Given the description of an element on the screen output the (x, y) to click on. 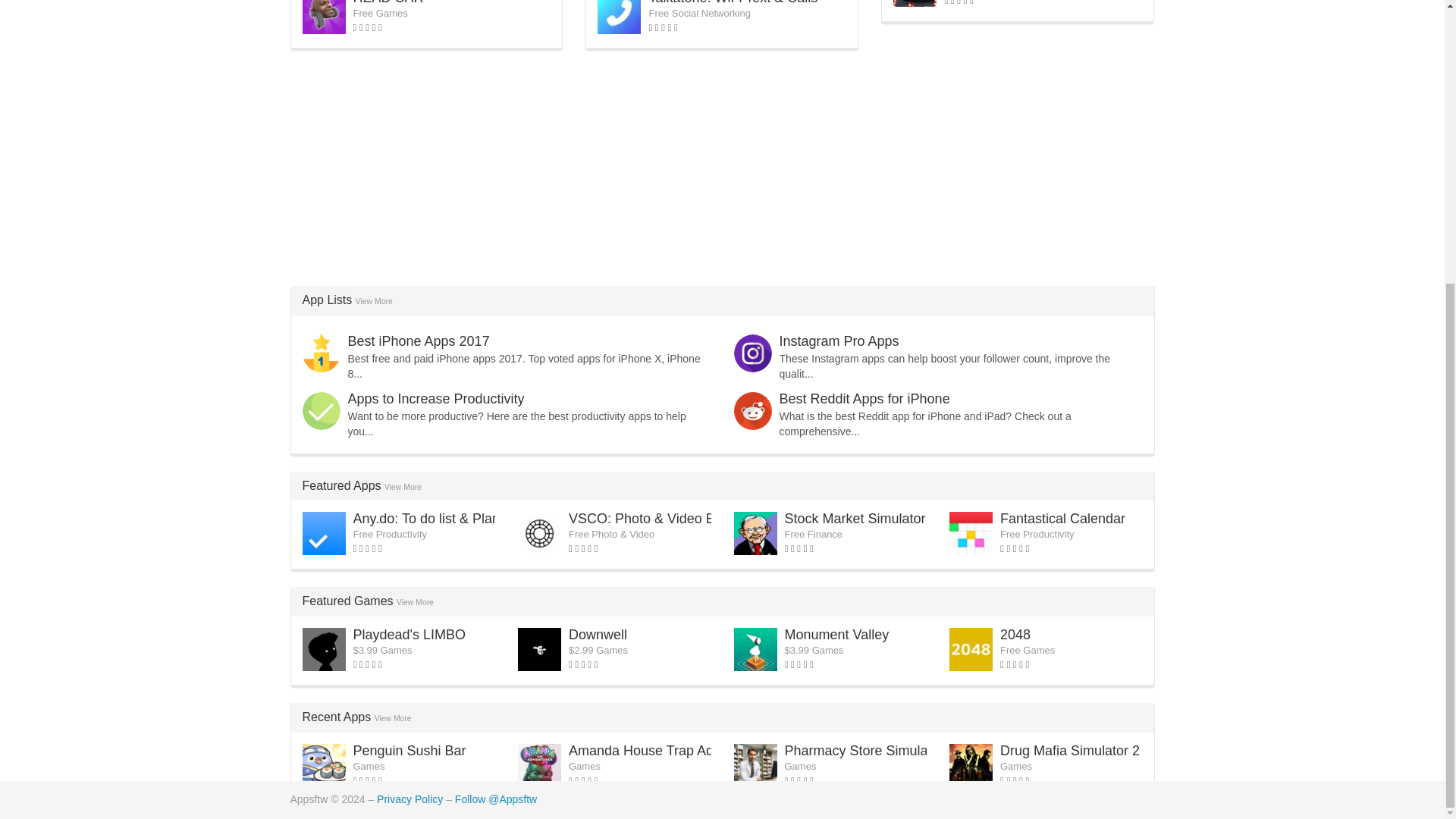
Apps to Increase Productivity (435, 398)
Instagram Pro Apps (838, 340)
Best iPhone Apps 2017 (418, 340)
View HEAD CAR (388, 2)
HEAD CAR (388, 2)
